Given the description of an element on the screen output the (x, y) to click on. 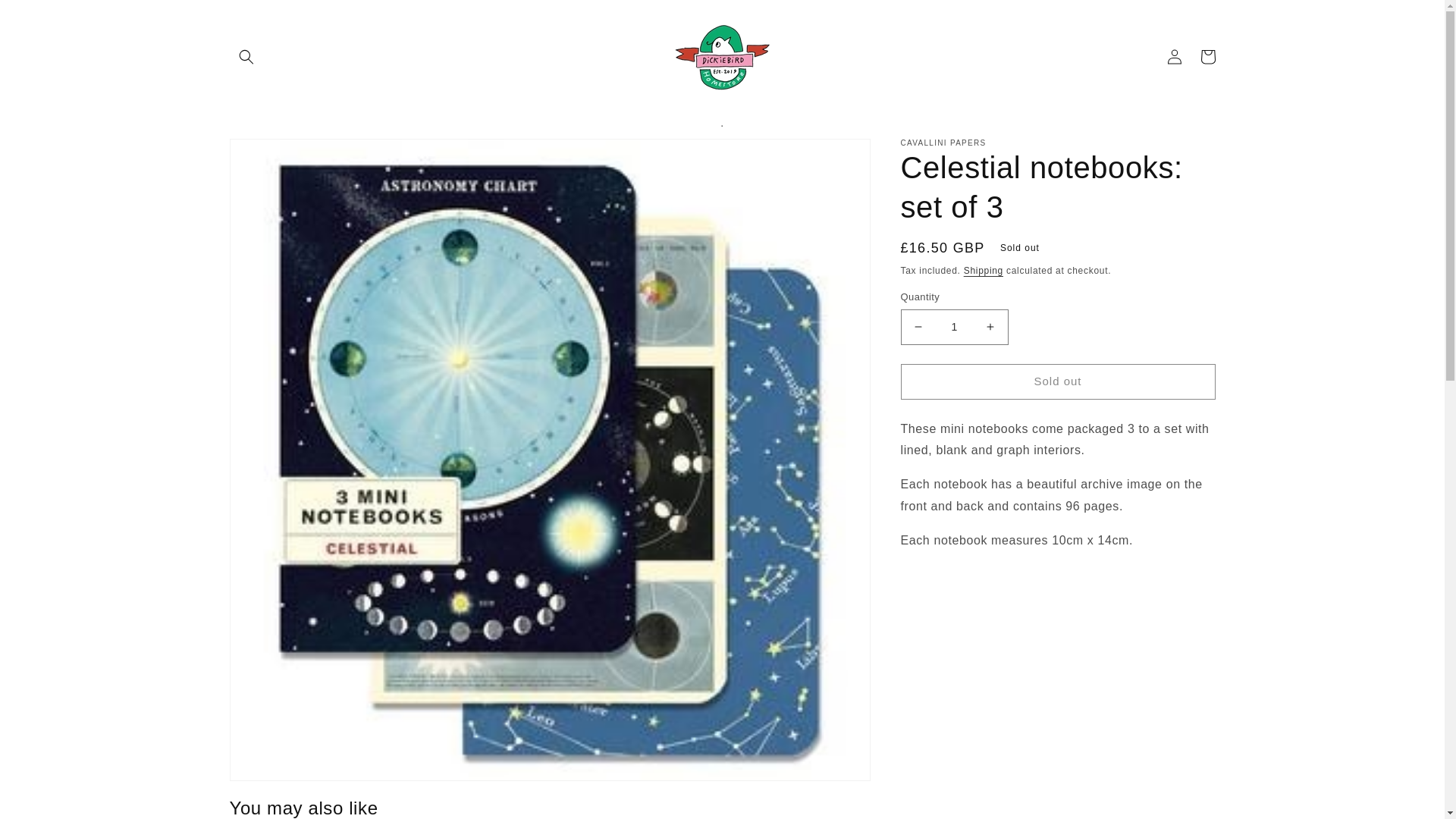
Shipping (983, 270)
Skip to product information (274, 155)
Decrease quantity for Celestial notebooks: set of 3 (917, 326)
Increase quantity for Celestial notebooks: set of 3 (990, 326)
Log in (1174, 56)
1 (955, 326)
Skip to content (45, 17)
Cart (1207, 56)
Sold out (1058, 381)
